Given the description of an element on the screen output the (x, y) to click on. 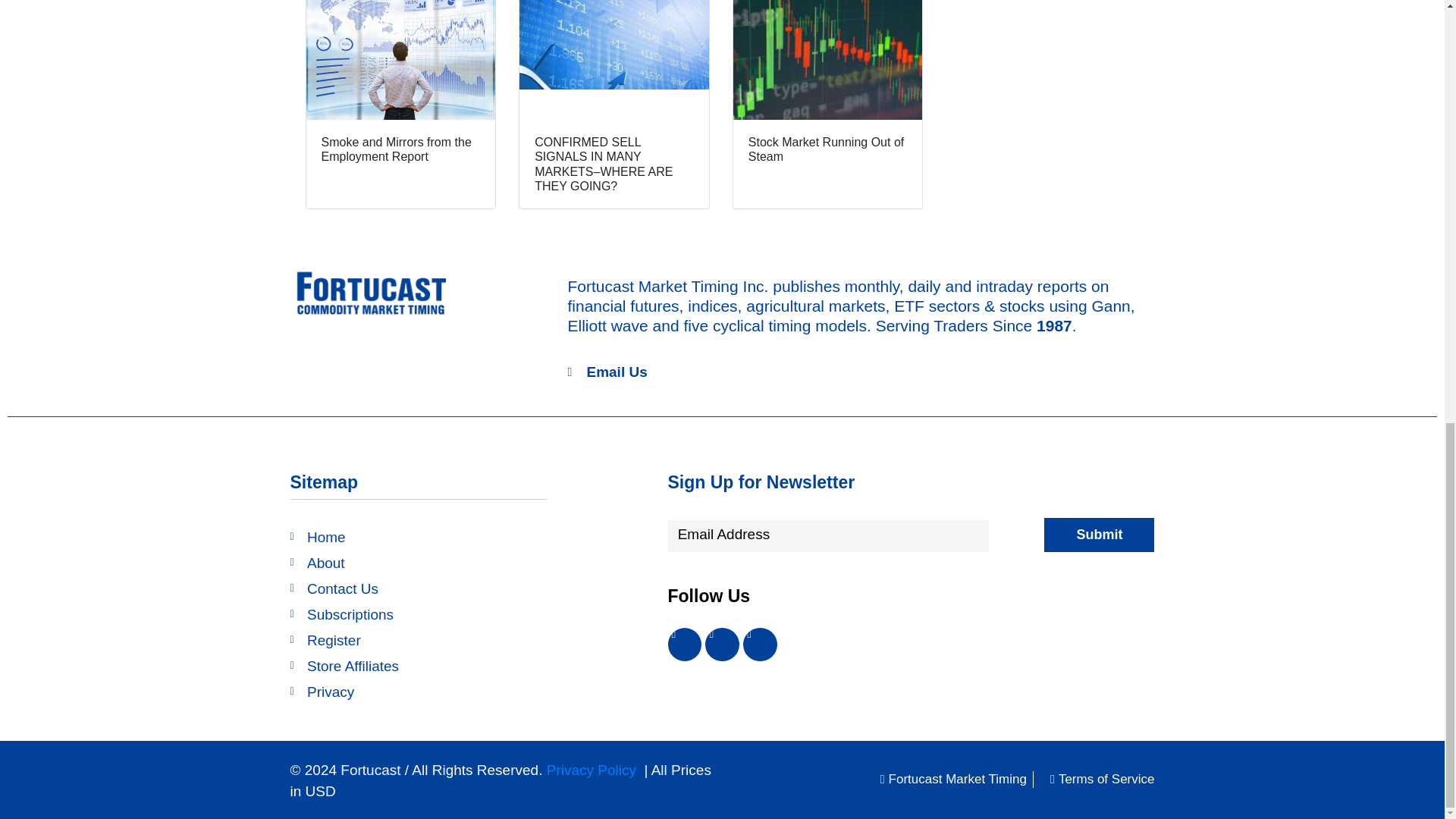
Home (417, 536)
Smoke and Mirrors from the Employment Report (400, 104)
Stock Market Running Out of Steam (827, 104)
About (417, 563)
Email Us (606, 372)
